Given the description of an element on the screen output the (x, y) to click on. 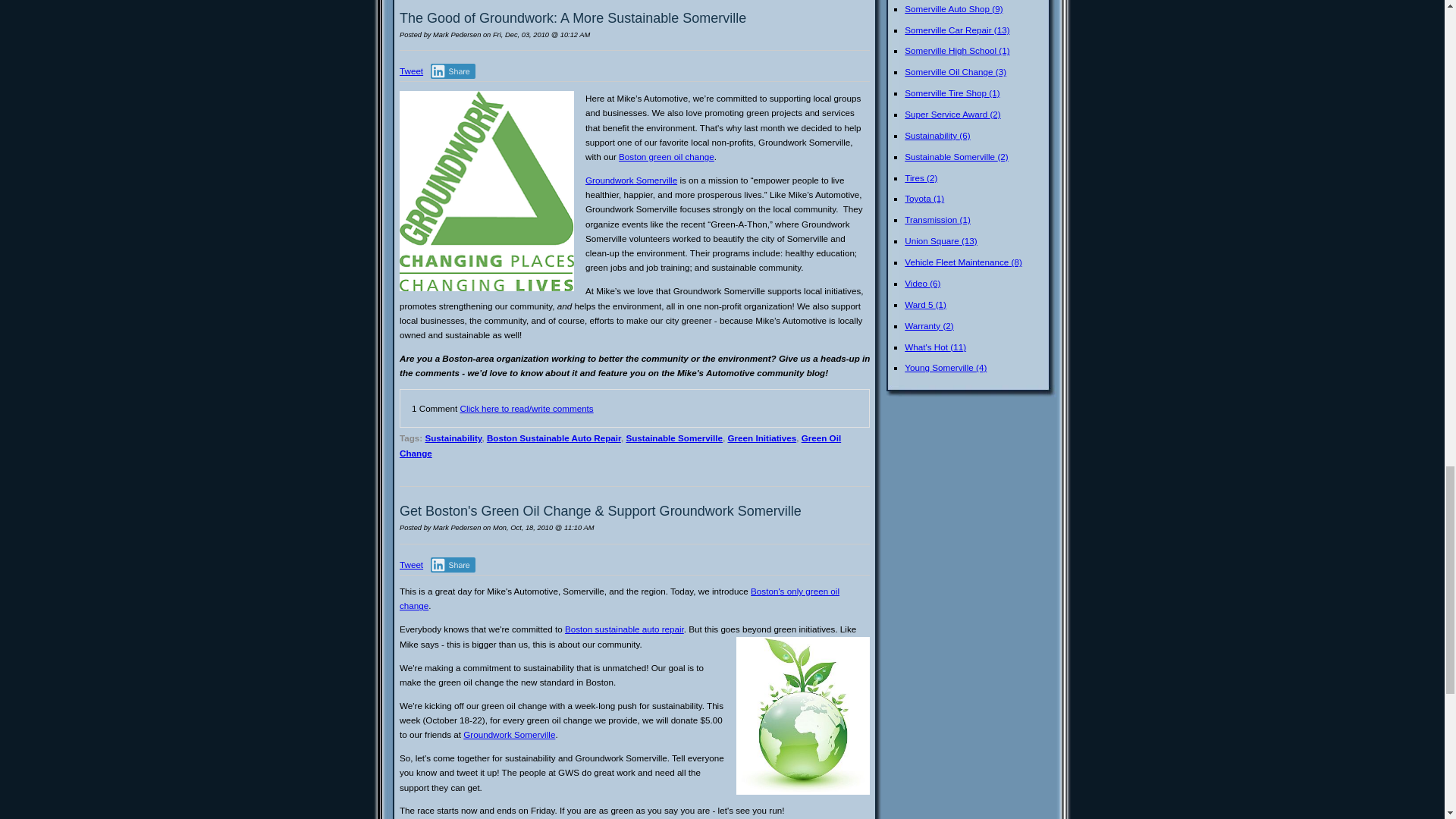
Boston's only green oil change (619, 598)
Boston sustainable auto repair (624, 628)
Boston green oil change (666, 156)
Groundwork Somerville (508, 734)
